Given the description of an element on the screen output the (x, y) to click on. 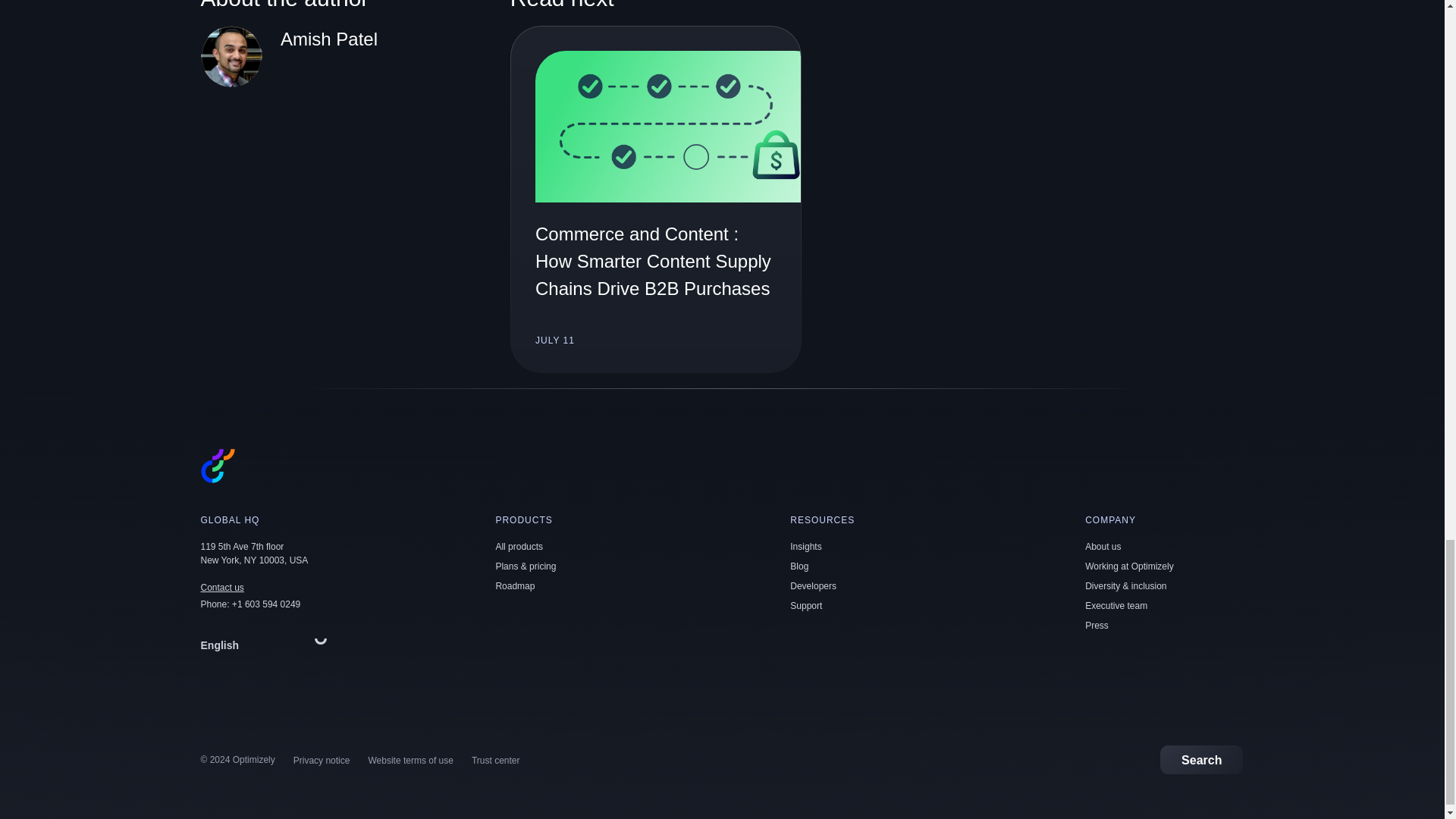
Contact us (221, 587)
Insights (805, 546)
Privacy notice (322, 760)
Support (806, 605)
Executive team (1115, 605)
English (266, 644)
Trust center (495, 760)
Working at Optimizely (1128, 566)
About us (1102, 546)
Roadmap (514, 585)
Developers (812, 585)
Website terms of use (410, 760)
Contact us (221, 587)
All products (519, 546)
Press (1096, 624)
